Given the description of an element on the screen output the (x, y) to click on. 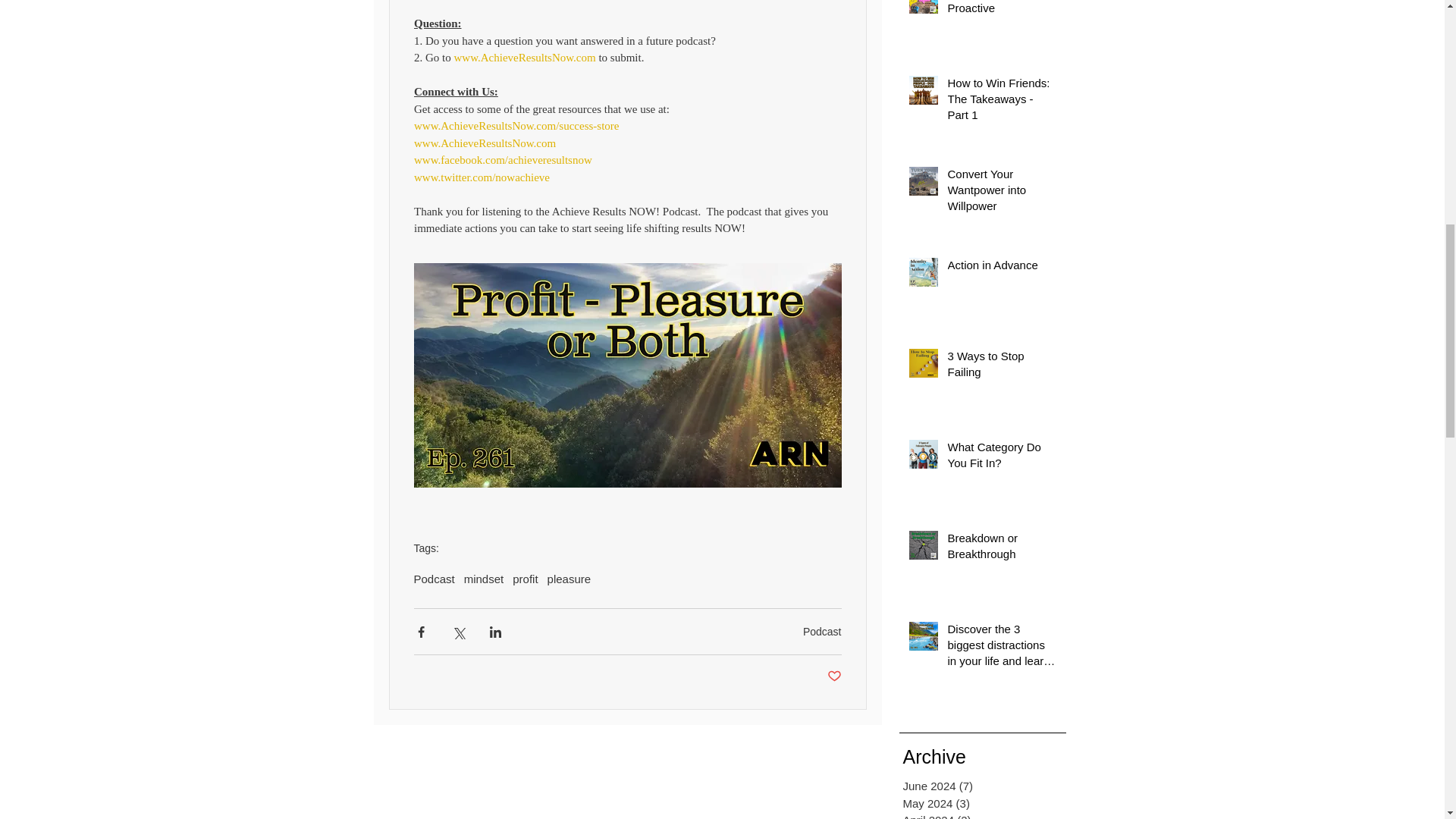
How to Win Friends: The Takeaways - Part 1 (1002, 101)
Podcast (822, 631)
mindset (483, 578)
3 Ways to be More Proactive (1002, 11)
Action in Advance (1002, 268)
3 Ways to Stop Failing (1002, 366)
www.AchieveResultsNow.com (523, 57)
www.AchieveResultsNow.com (484, 142)
Breakdown or Breakthrough (1002, 548)
Convert Your Wantpower into Willpower (1002, 193)
Podcast (433, 578)
Post not marked as liked (834, 676)
pleasure (569, 578)
What Category Do You Fit In? (1002, 457)
